Given the description of an element on the screen output the (x, y) to click on. 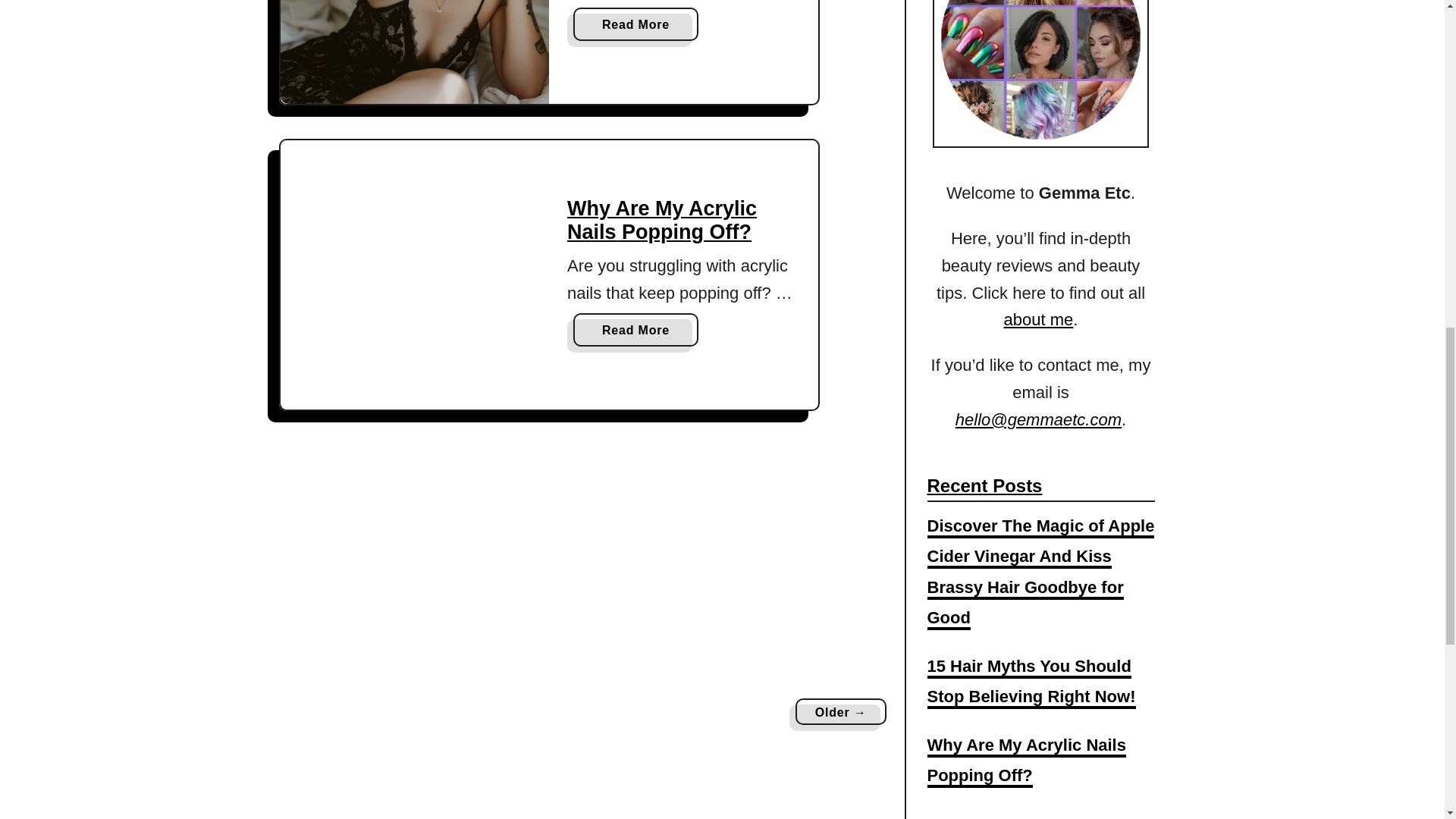
15 Hair Myths You Should Stop Believing Right Now! (415, 52)
about me (635, 329)
Why Are My Acrylic Nails Popping Off? (1039, 319)
Why Are My Acrylic Nails Popping Off? (662, 220)
